Given the description of an element on the screen output the (x, y) to click on. 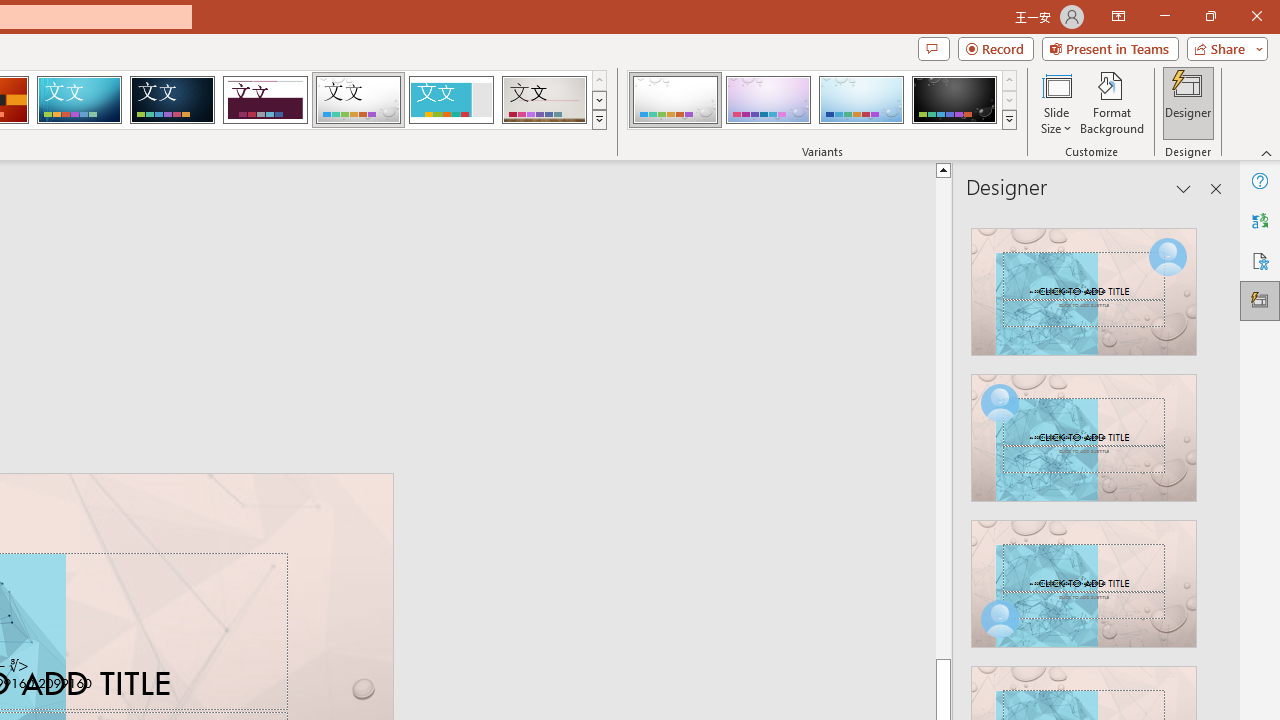
Circuit (79, 100)
Frame (450, 100)
AutomationID: ThemeVariantsGallery (822, 99)
